Given the description of an element on the screen output the (x, y) to click on. 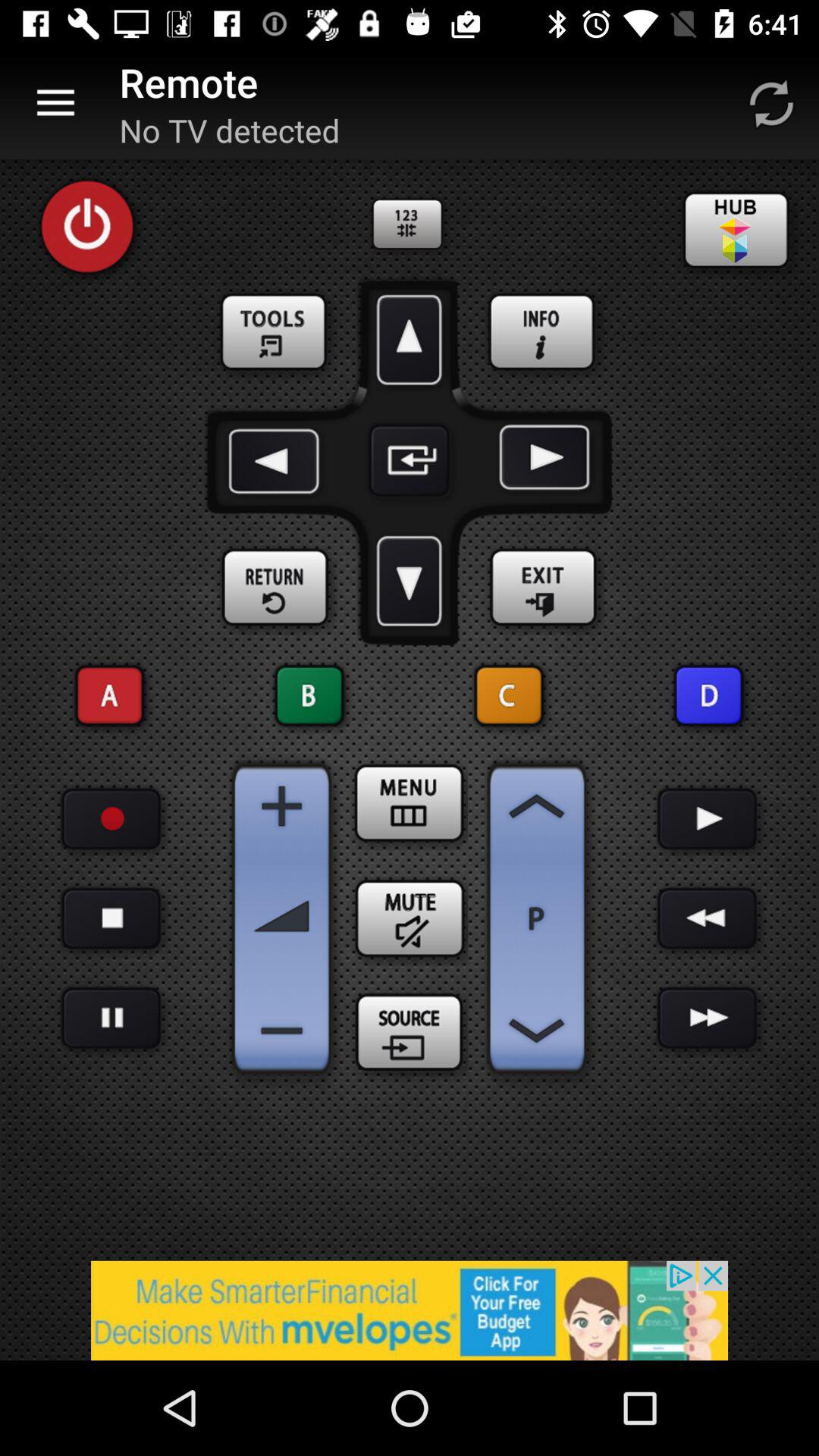
next (707, 918)
